Given the description of an element on the screen output the (x, y) to click on. 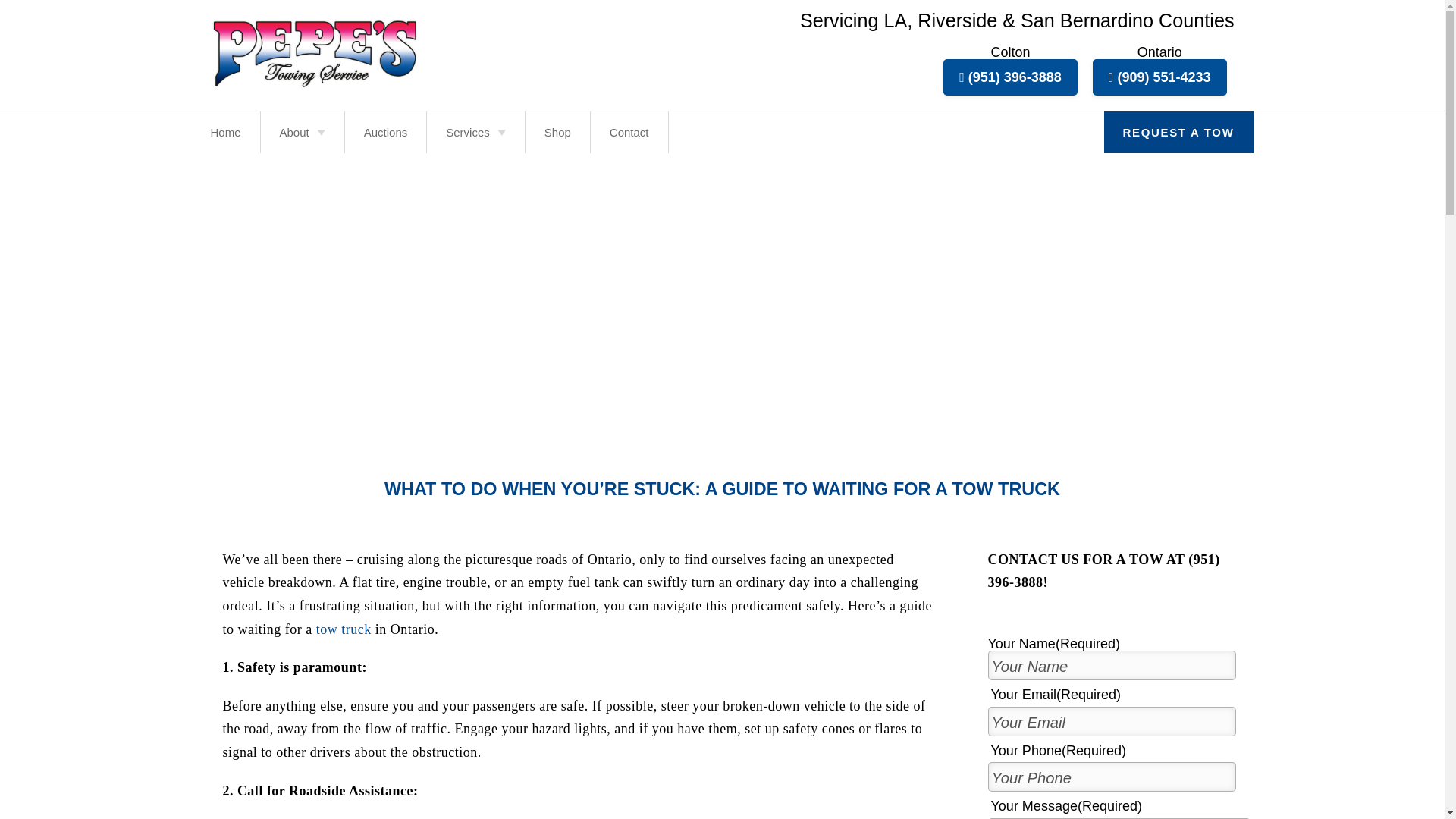
About (301, 132)
Home (224, 132)
REQUEST A TOW (1178, 132)
Services (475, 132)
Contact (629, 132)
tow truck (343, 629)
Auctions (385, 132)
Shop (557, 132)
